Given the description of an element on the screen output the (x, y) to click on. 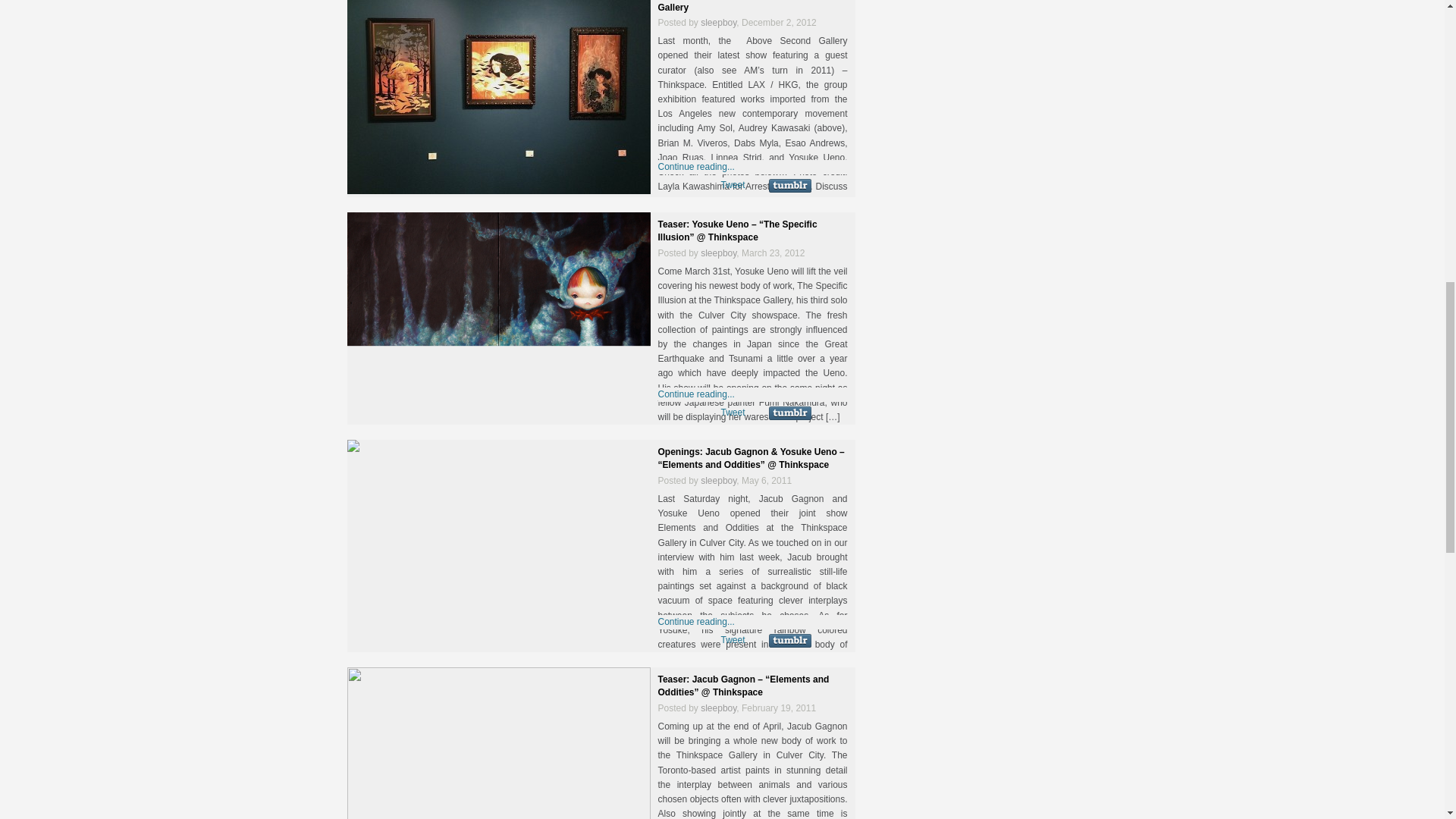
Continue reading... (696, 166)
Continue reading... (696, 394)
sleepboy (718, 22)
Tweet (732, 184)
sleepboy (718, 253)
